Given the description of an element on the screen output the (x, y) to click on. 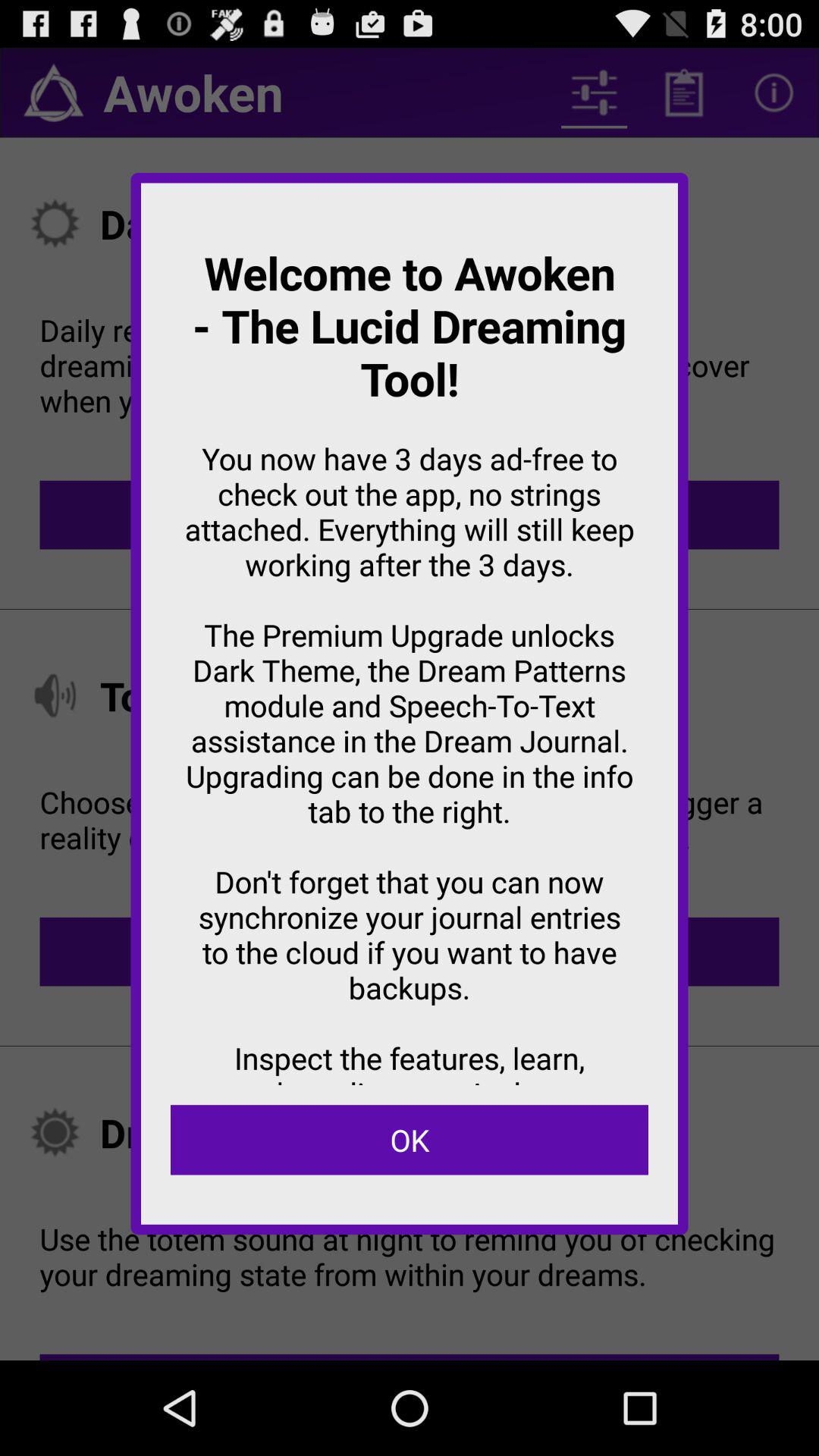
launch the button at the bottom (409, 1140)
